Given the description of an element on the screen output the (x, y) to click on. 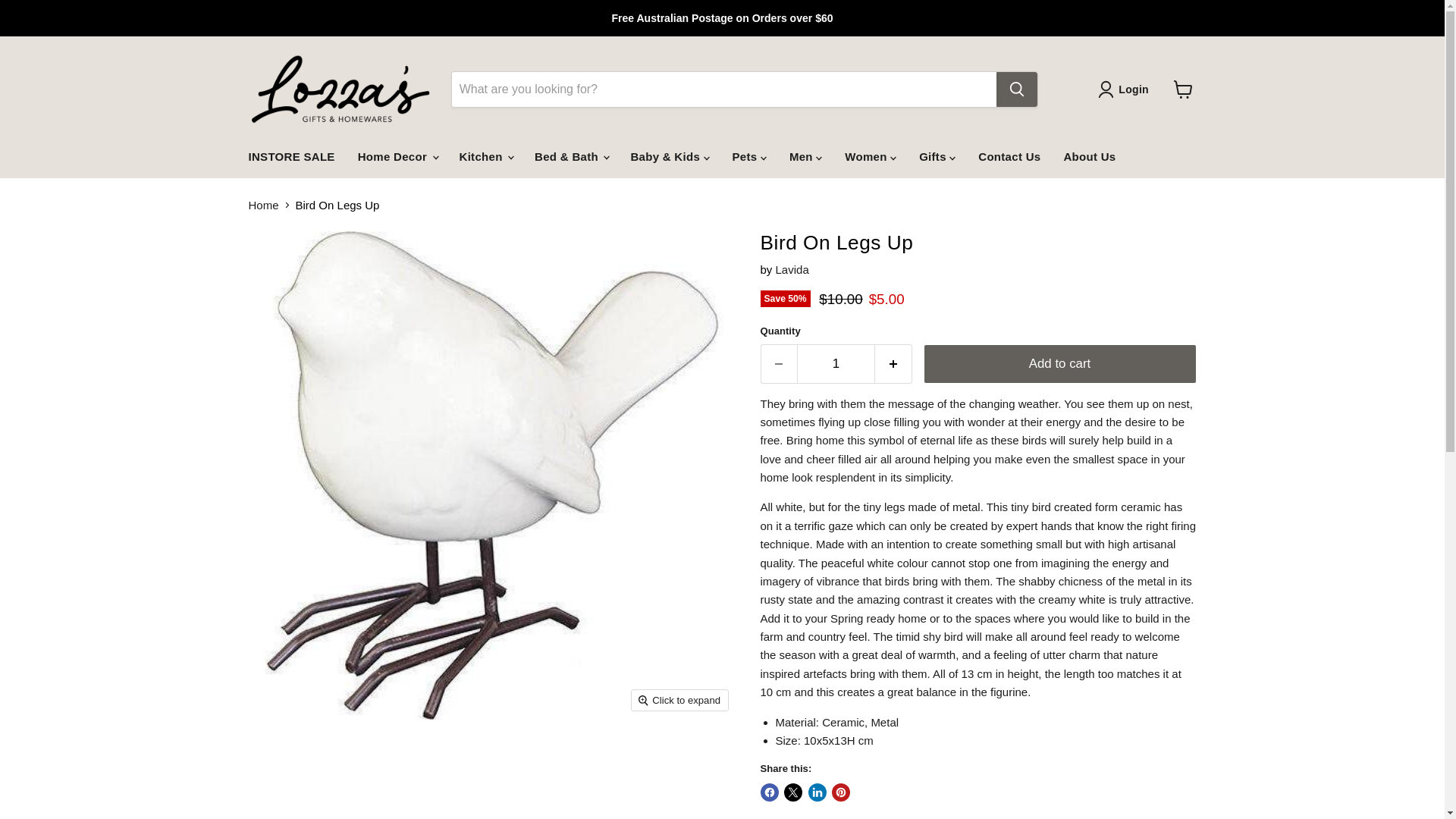
Lavida (792, 269)
Login (1125, 89)
INSTORE SALE (290, 155)
1 (835, 363)
View cart (1182, 89)
